Given the description of an element on the screen output the (x, y) to click on. 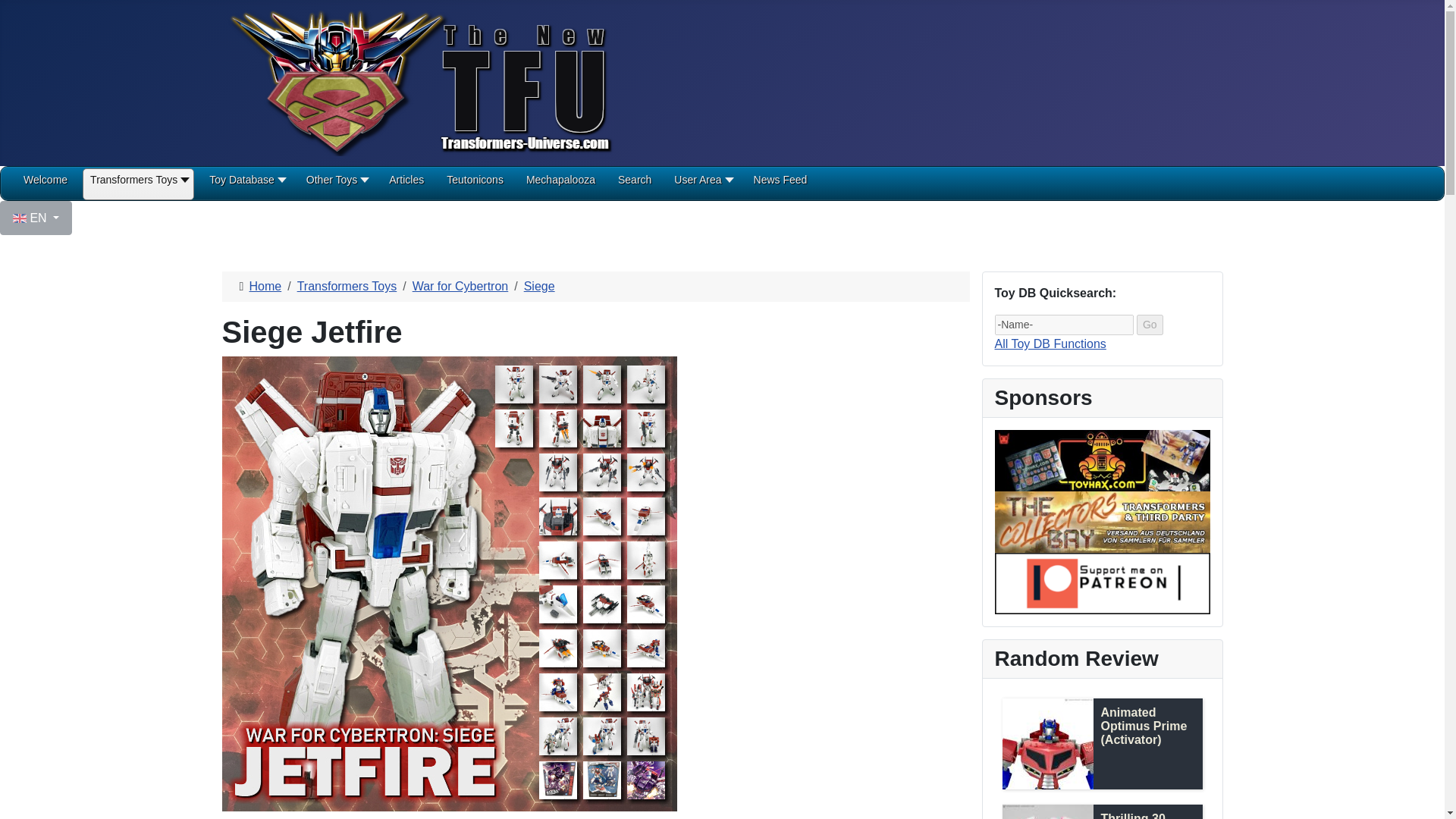
Welcome (44, 184)
Transformers Toys (138, 184)
Go (1150, 324)
-Name- (1064, 324)
